Given the description of an element on the screen output the (x, y) to click on. 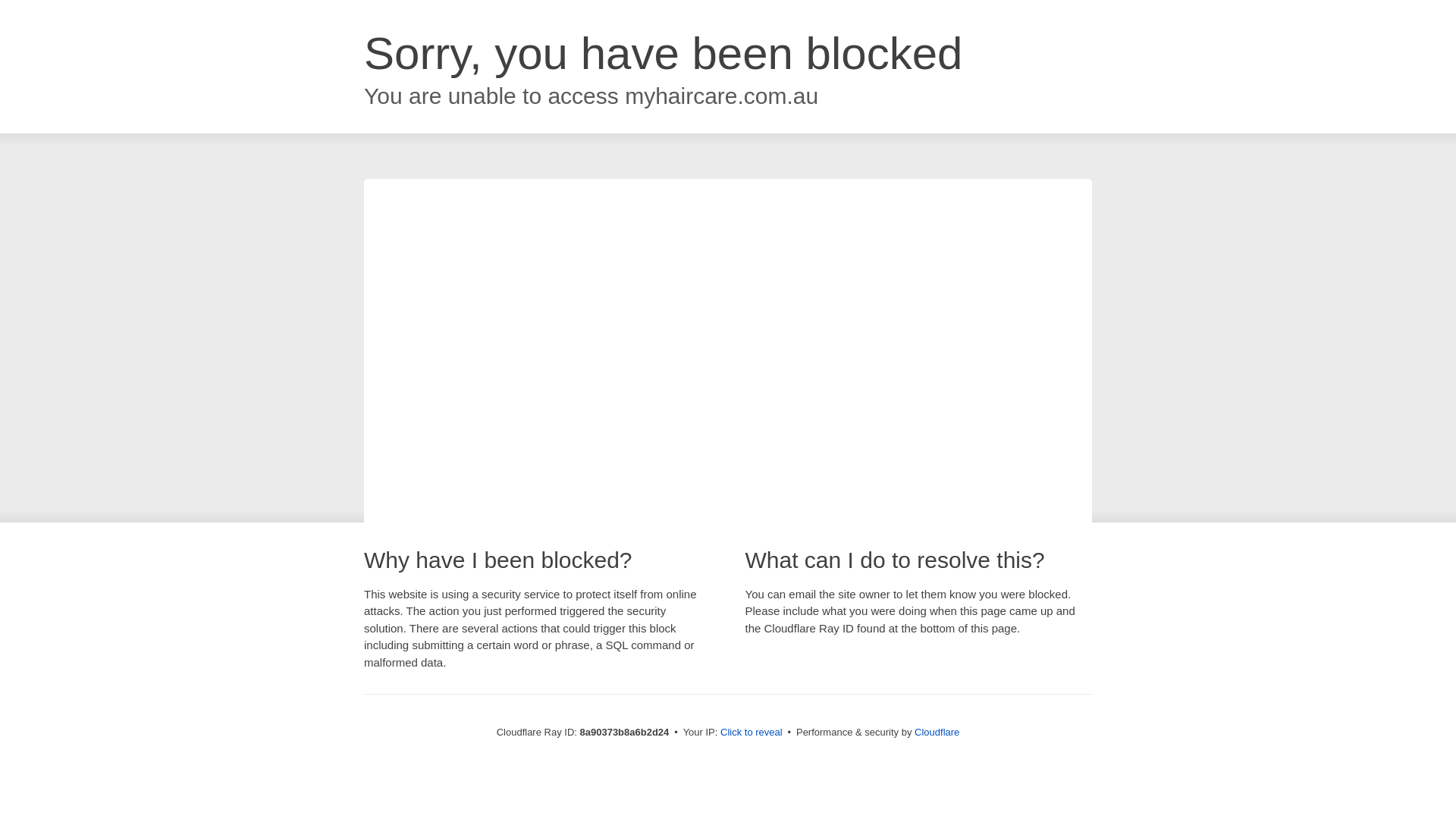
Cloudflare (936, 731)
Click to reveal (751, 732)
